Given the description of an element on the screen output the (x, y) to click on. 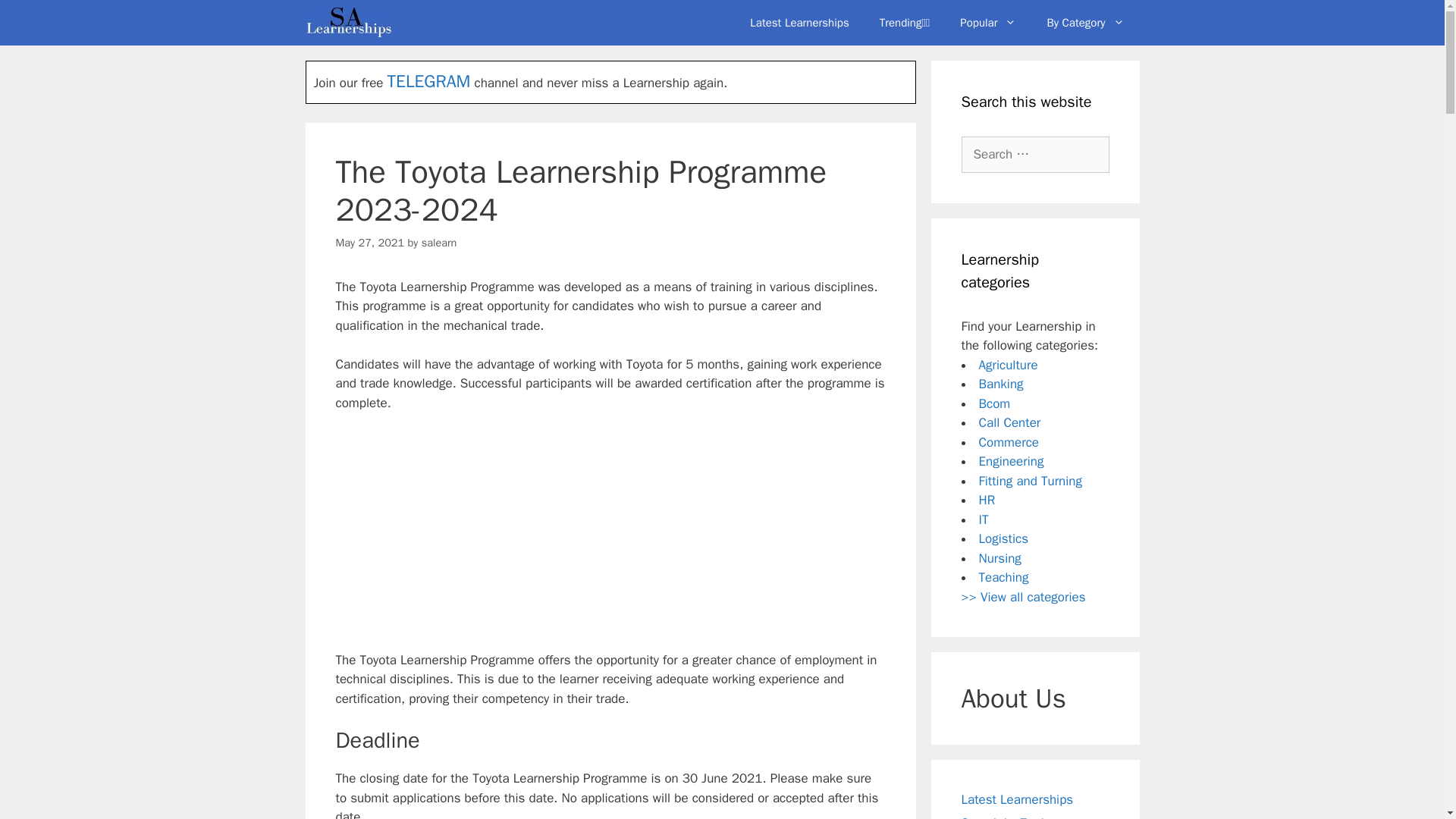
View all posts by salearn (439, 242)
Latest Learnerships (799, 22)
Advertisement (609, 538)
TELEGRAM (428, 81)
Popular (987, 22)
SA Learnerships 2024: Finding Your Perfect Learnership (347, 22)
salearn (439, 242)
SA Learnerships 2024: Finding Your Perfect Learnership (351, 22)
By Category (1084, 22)
Search for: (1034, 154)
